Given the description of an element on the screen output the (x, y) to click on. 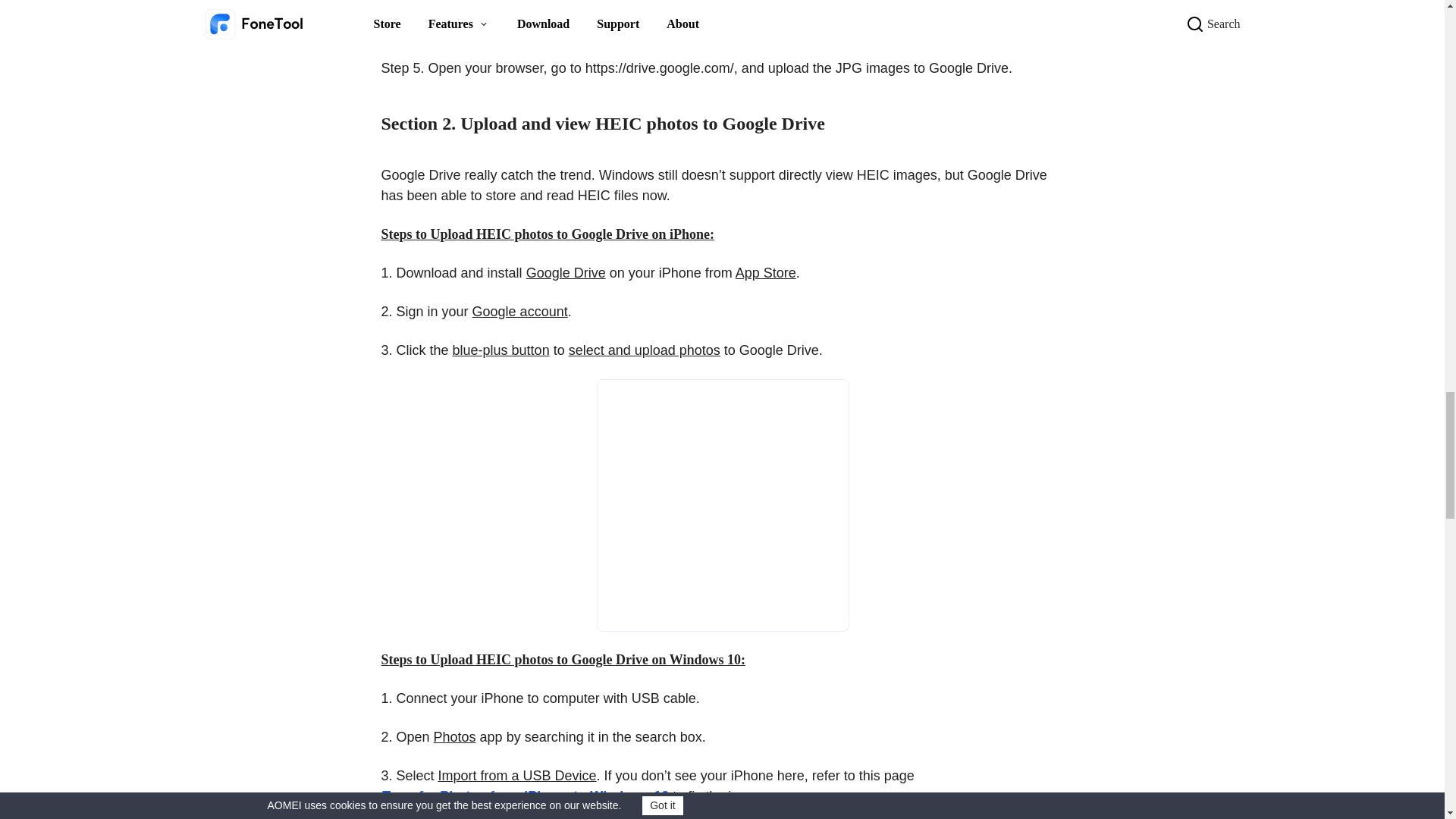
Google Drive (722, 505)
Transfer Photos from iPhone to Windows 10 (524, 796)
